Given the description of an element on the screen output the (x, y) to click on. 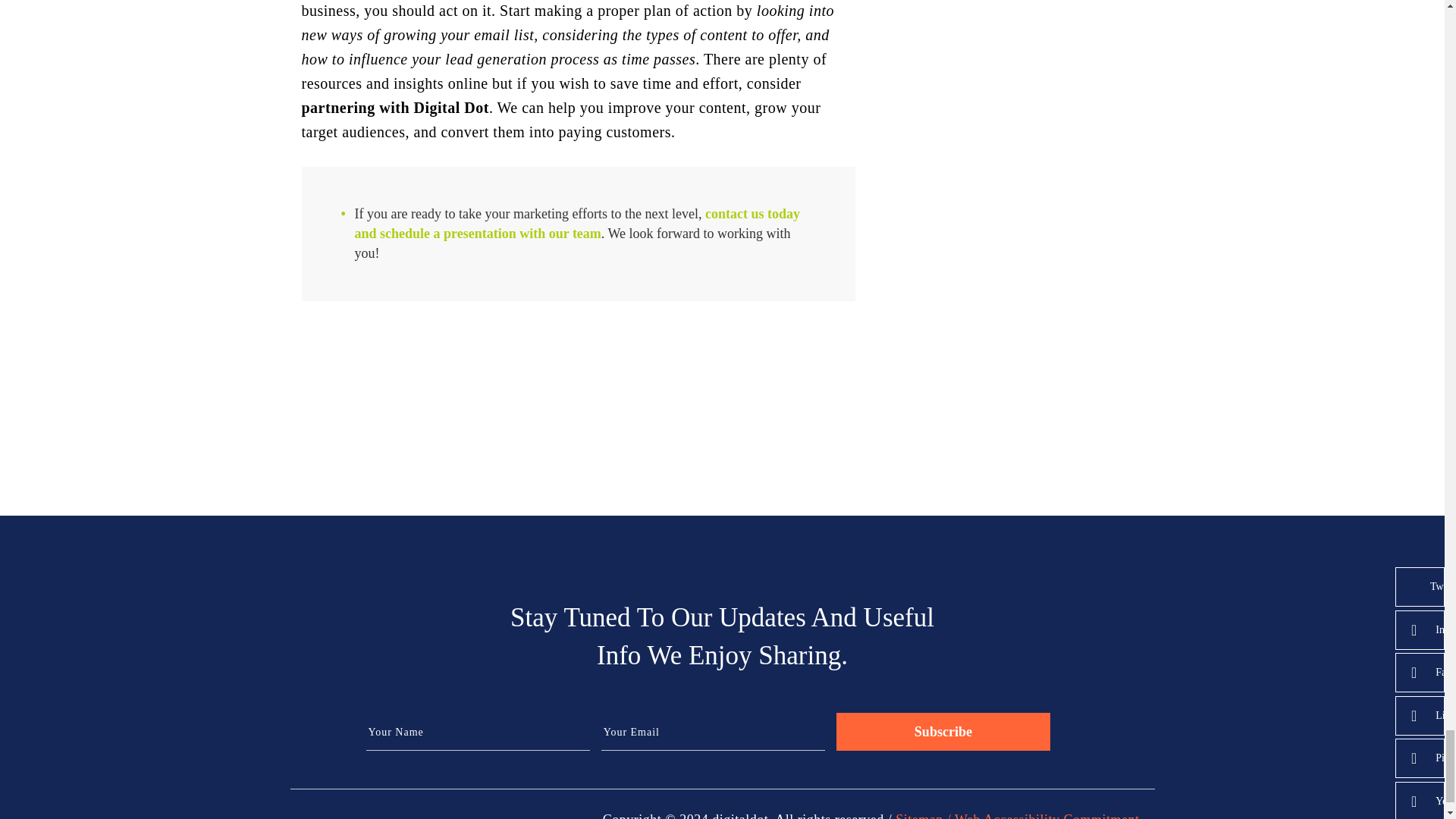
Subscribe (942, 731)
